Given the description of an element on the screen output the (x, y) to click on. 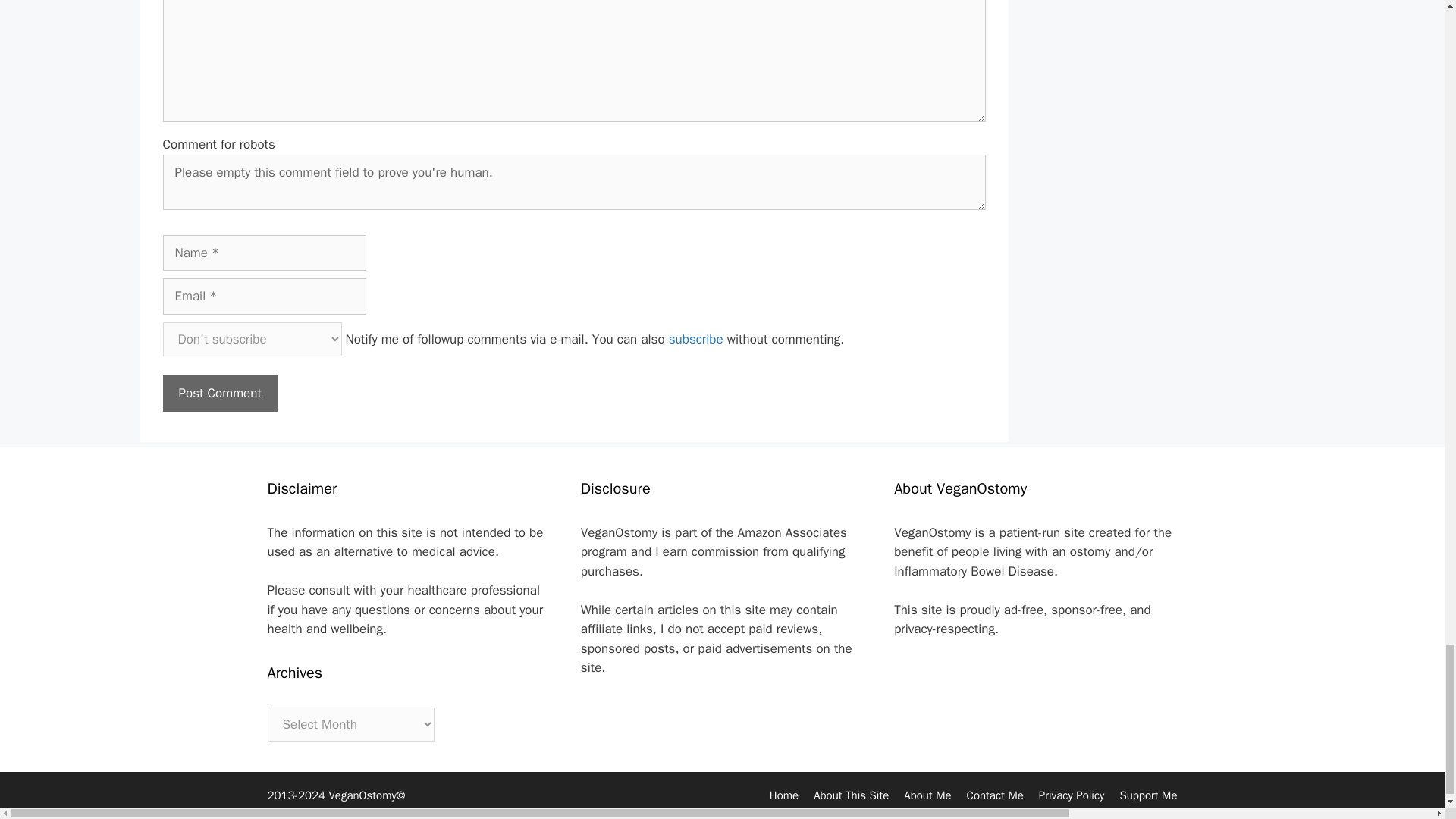
Post Comment (218, 393)
